Given the description of an element on the screen output the (x, y) to click on. 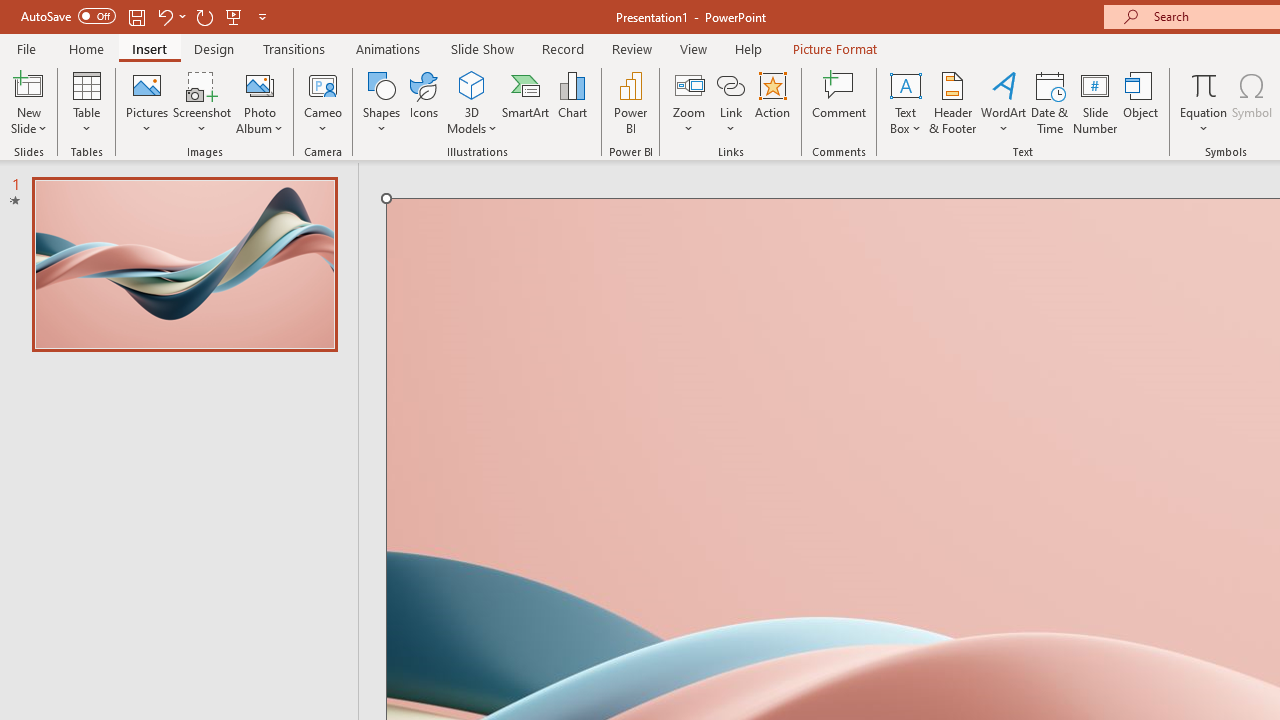
Photo Album... (259, 102)
Screenshot (202, 102)
New Photo Album... (259, 84)
Object... (1141, 102)
Draw Horizontal Text Box (905, 84)
Power BI (630, 102)
